Given the description of an element on the screen output the (x, y) to click on. 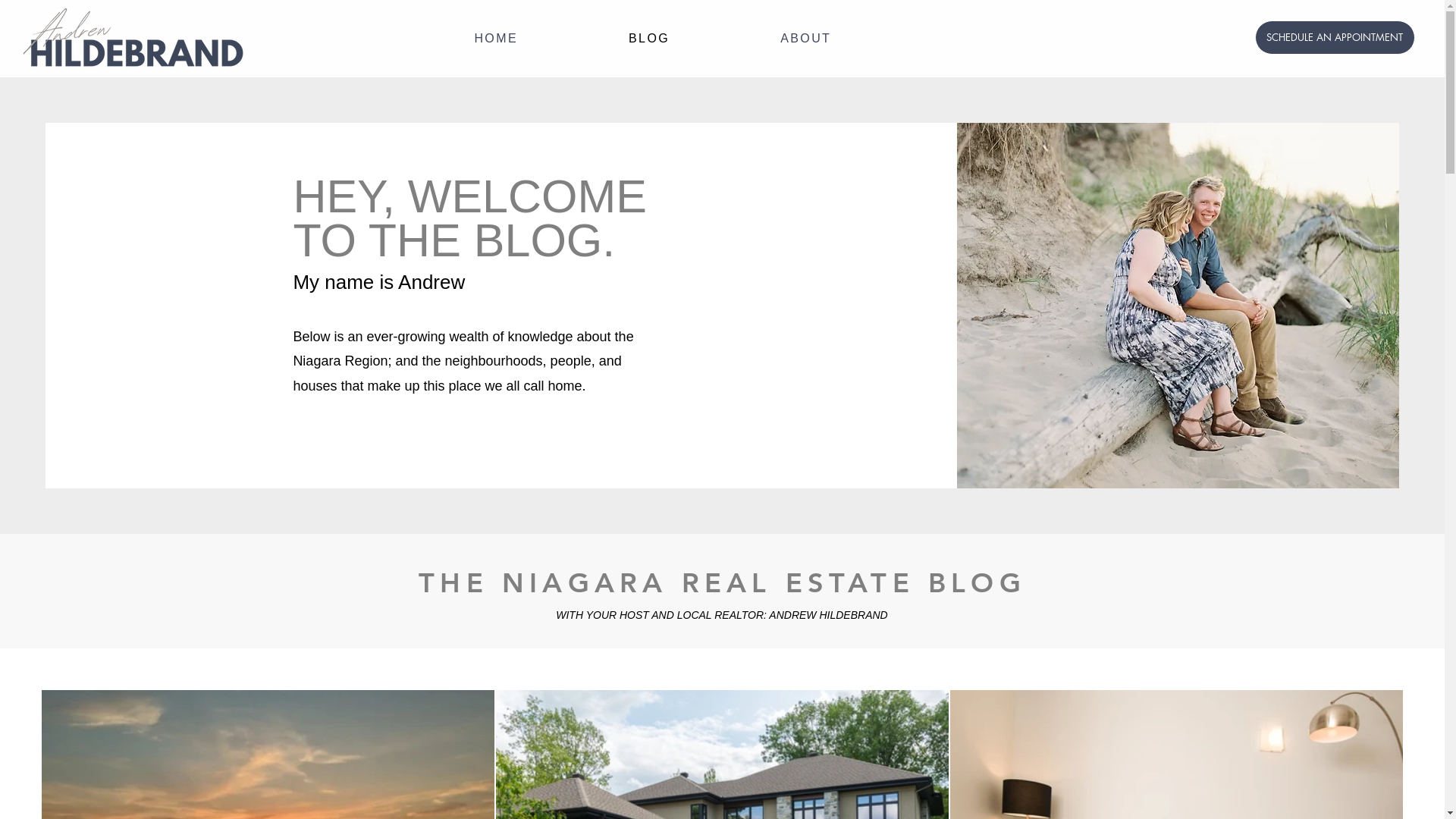
ABOUT Element type: text (805, 38)
SCHEDULE AN APPOINTMENT Element type: text (1335, 37)
HOME Element type: text (495, 38)
BLOG Element type: text (648, 38)
